Given the description of an element on the screen output the (x, y) to click on. 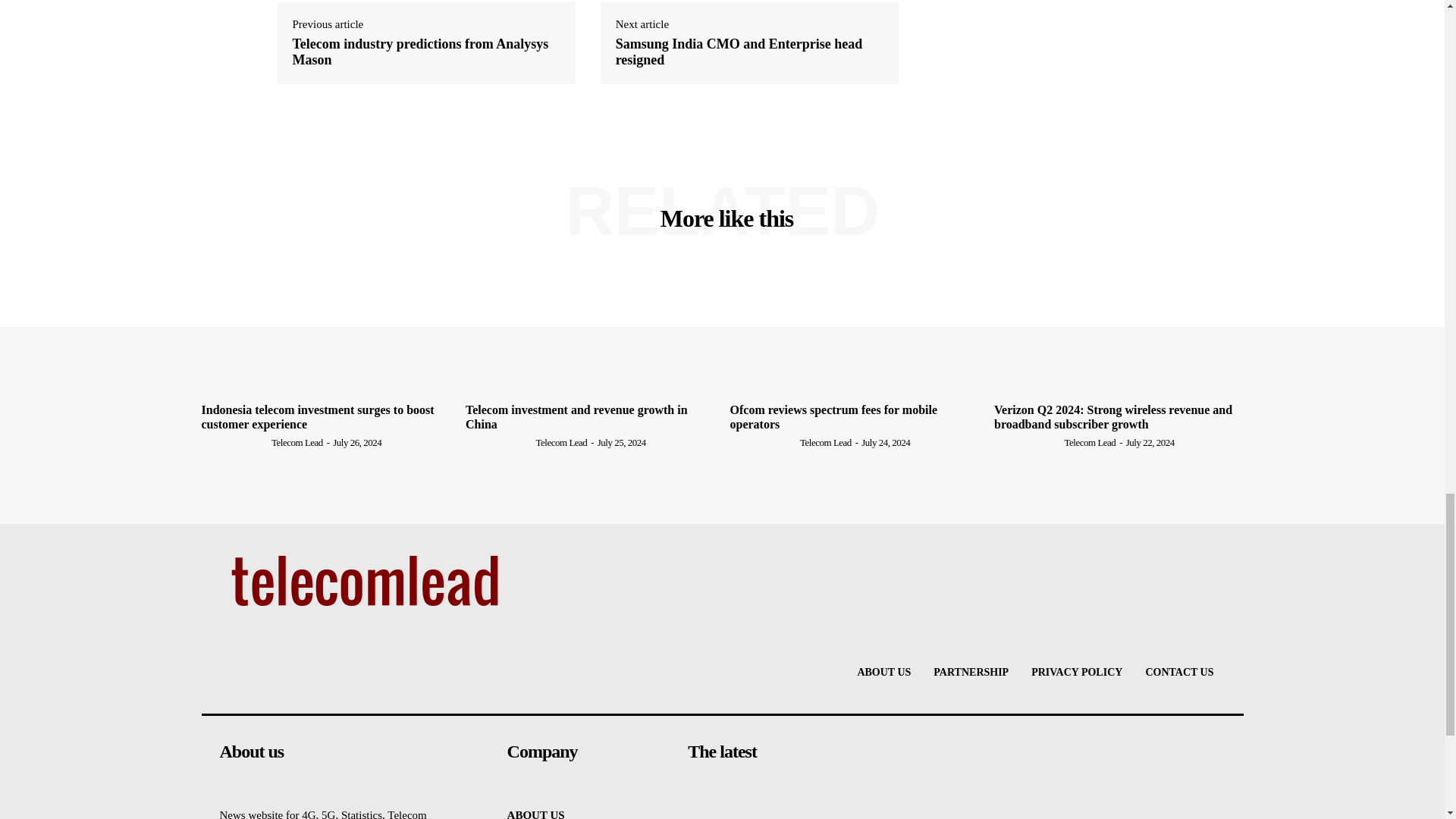
Samsung India CMO and Enterprise head resigned (749, 52)
Telecom industry predictions from Analysys Mason (426, 52)
